Given the description of an element on the screen output the (x, y) to click on. 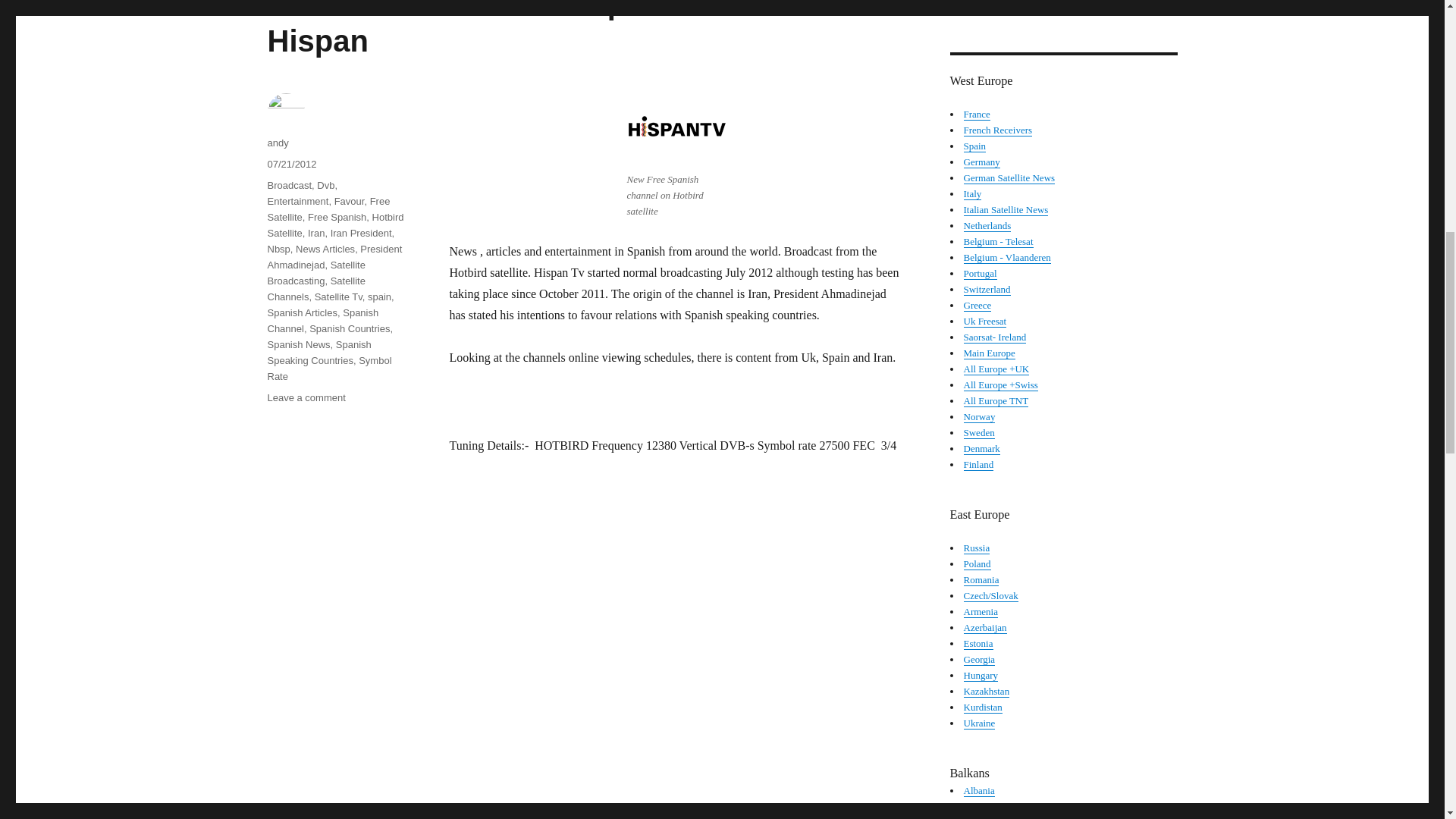
Iran (315, 233)
Dvb (325, 184)
Spanish Countries (349, 328)
andy (277, 142)
Broadcast (288, 184)
Spanish Articles (301, 312)
Favour (349, 201)
Iran President (360, 233)
News Articles (325, 248)
Satellite Tv (338, 296)
Free Spanish (336, 216)
Hotbird Satellite (334, 225)
Spanish News (298, 344)
Symbol Rate (328, 368)
Free Satellite (328, 208)
